Given the description of an element on the screen output the (x, y) to click on. 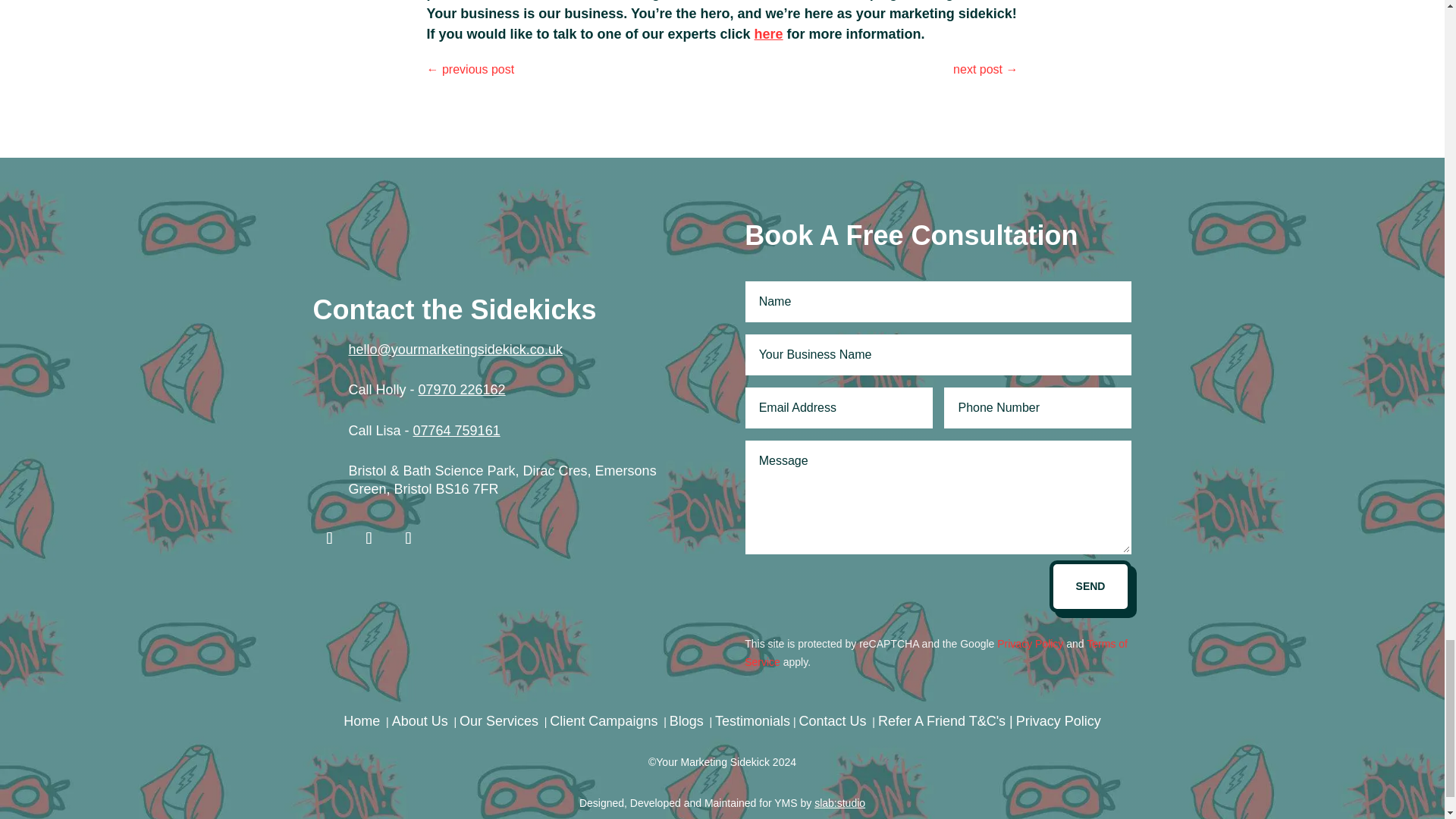
here (768, 33)
Follow on LinkedIn (408, 538)
Follow on Facebook (329, 538)
Follow on Instagram (368, 538)
07970 226162 (462, 389)
